Given the description of an element on the screen output the (x, y) to click on. 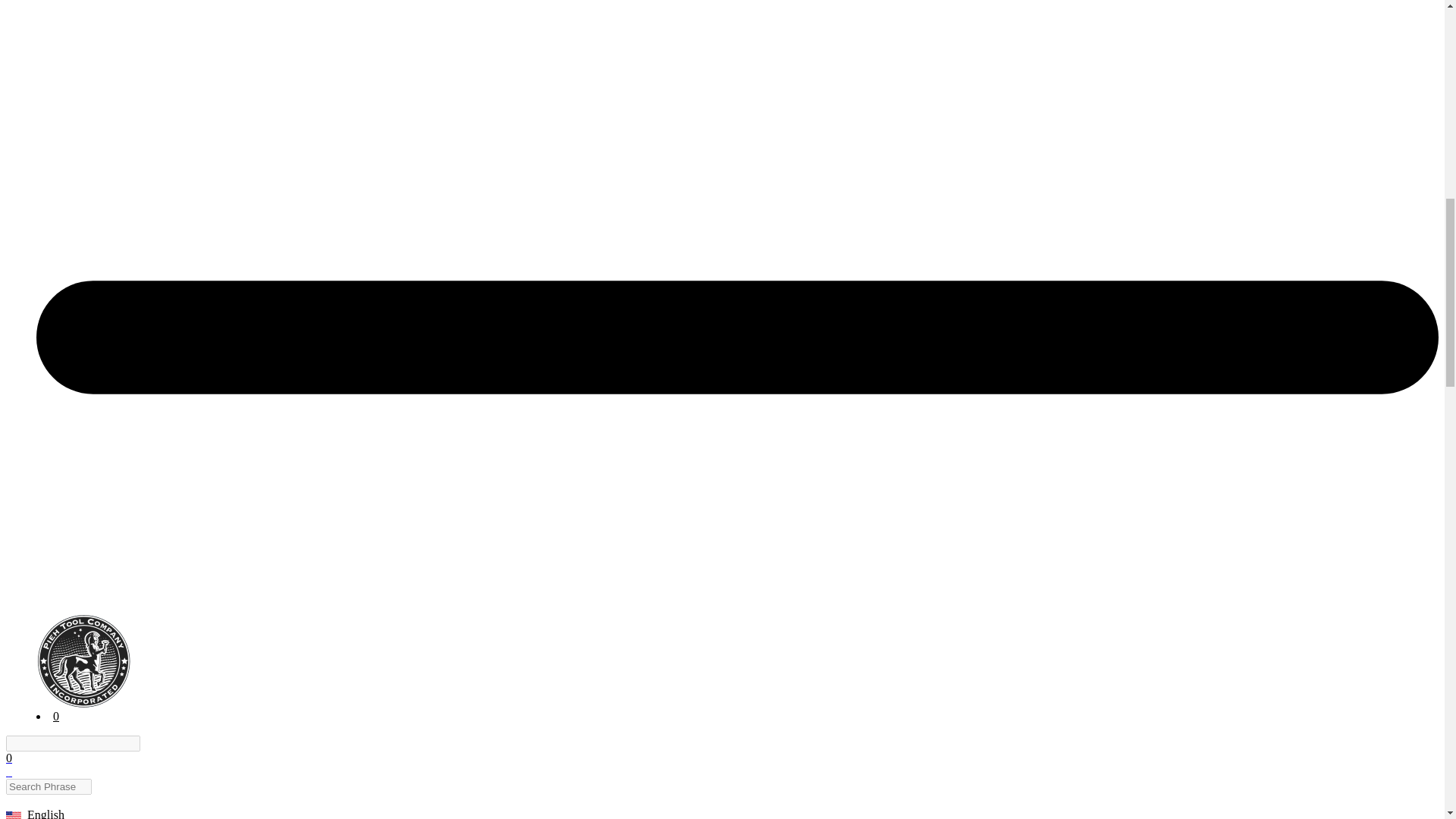
Pieh Tool Company (83, 660)
Find (148, 743)
Login (19, 800)
English (13, 815)
Login (19, 800)
